Given the description of an element on the screen output the (x, y) to click on. 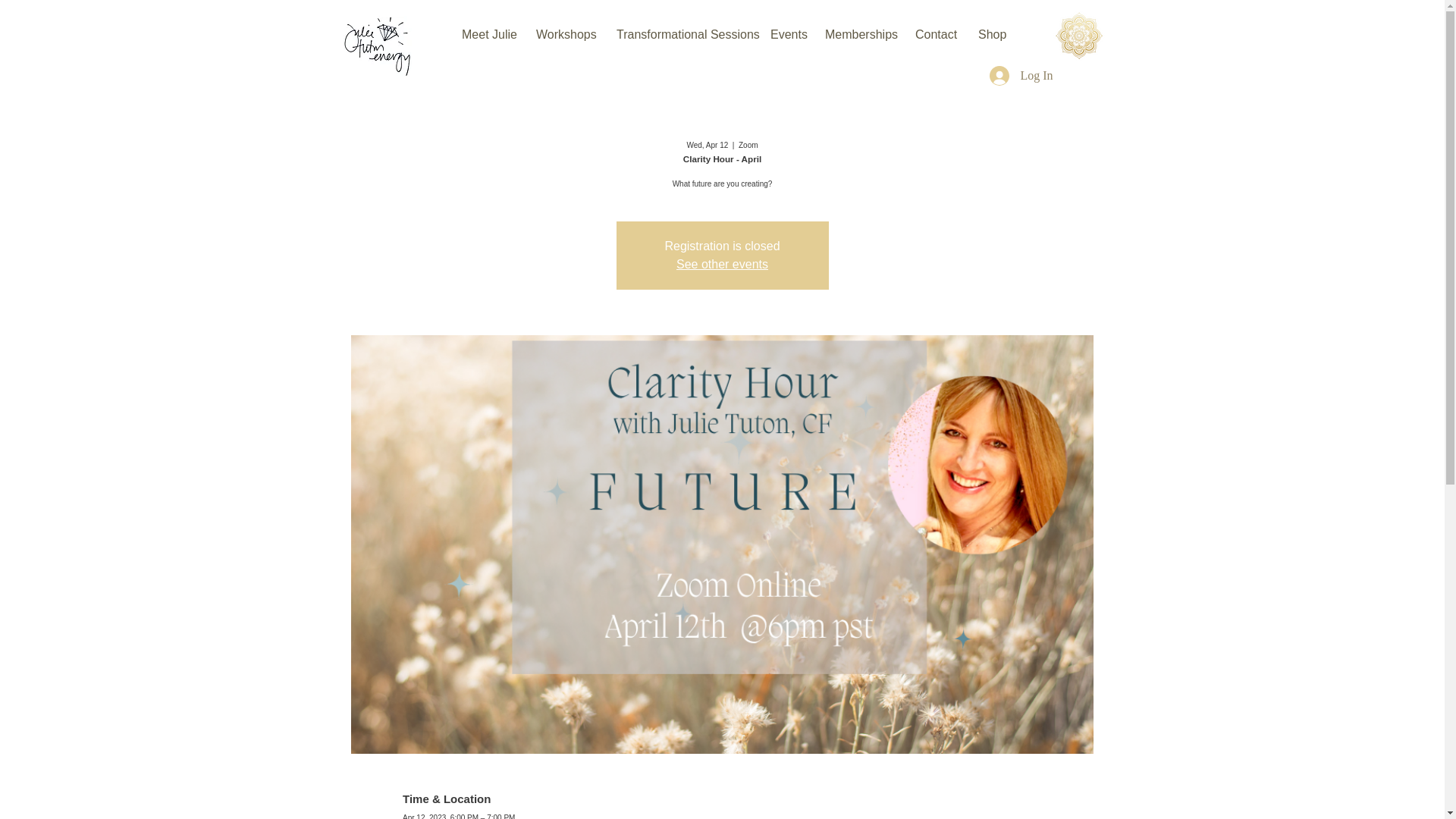
See other events (722, 264)
Workshops (564, 34)
Memberships (858, 34)
Meet Julie (486, 34)
Contact (935, 34)
Shop (991, 34)
Events (785, 34)
Log In (1020, 75)
Transformational Sessions (681, 34)
